Given the description of an element on the screen output the (x, y) to click on. 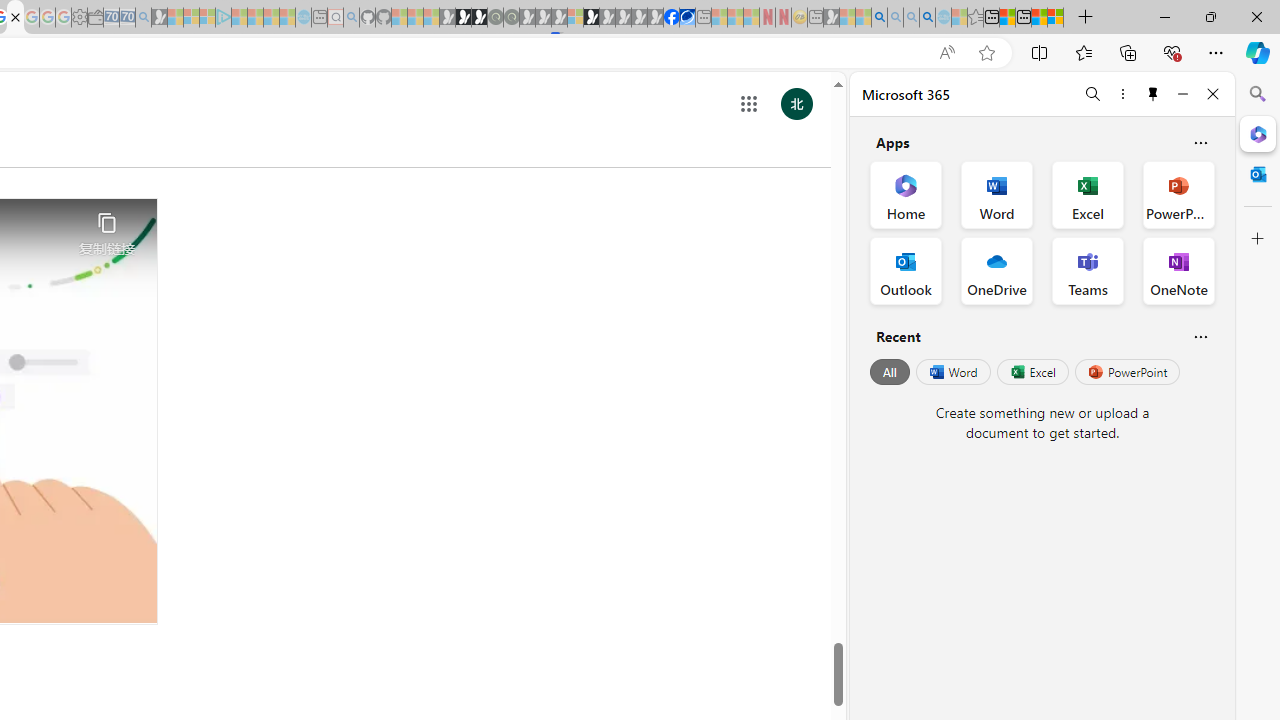
Word Office App (996, 194)
Word (952, 372)
Teams Office App (1087, 270)
Nordace | Facebook (671, 17)
